Given the description of an element on the screen output the (x, y) to click on. 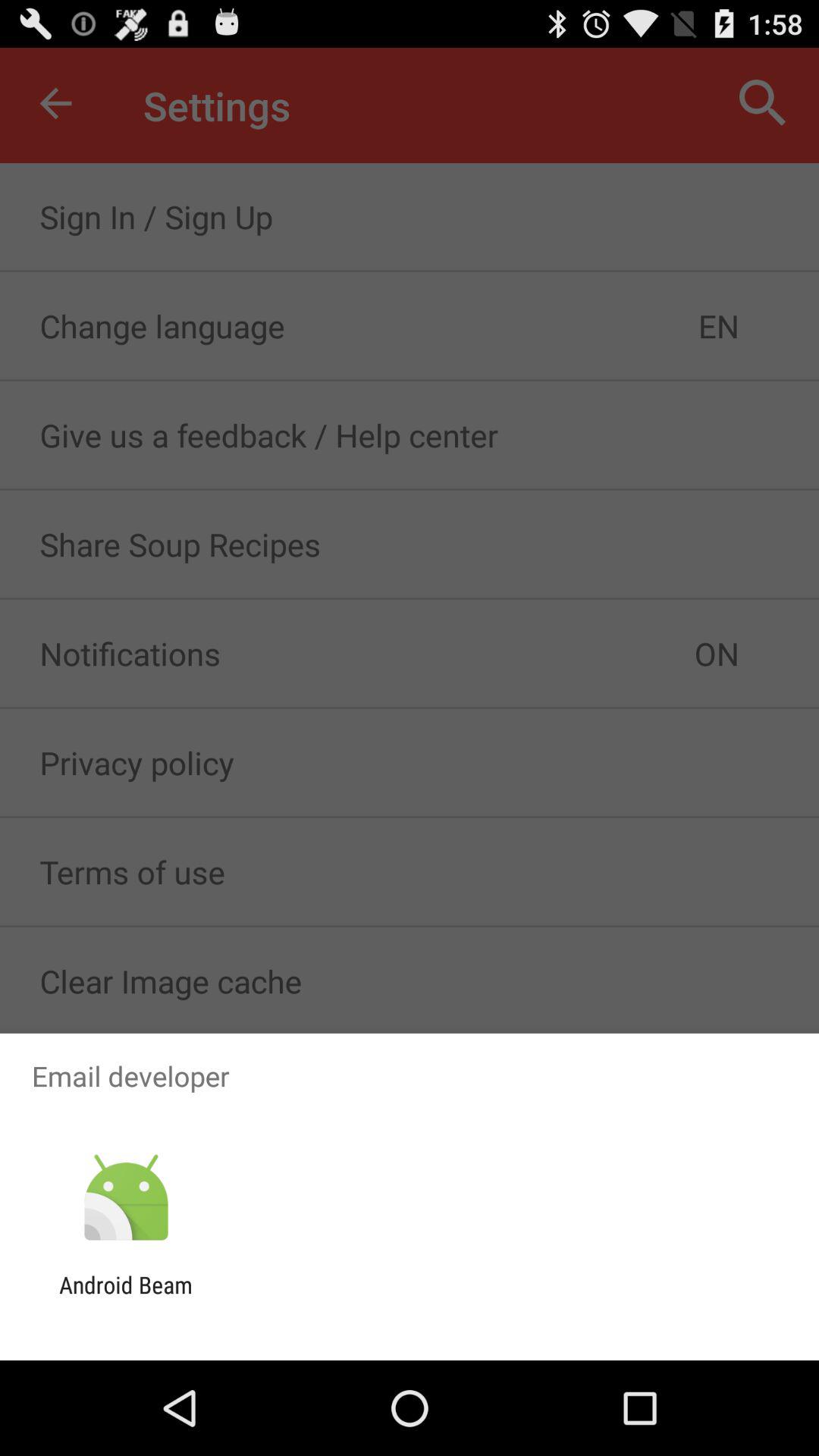
press android beam app (125, 1298)
